Given the description of an element on the screen output the (x, y) to click on. 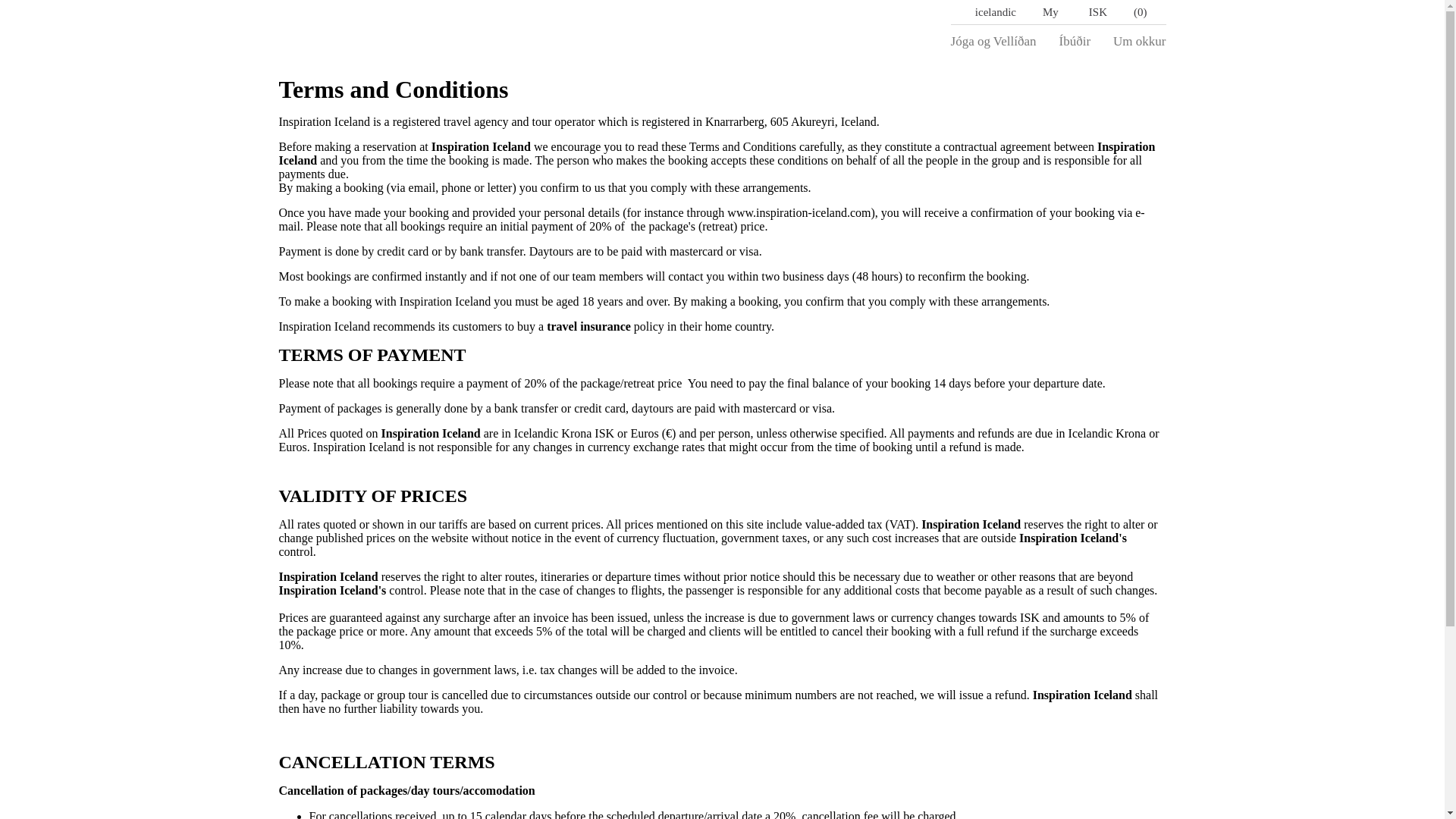
ISK (1097, 12)
My (1059, 12)
icelandic (995, 12)
Um okkur (1139, 41)
